Given the description of an element on the screen output the (x, y) to click on. 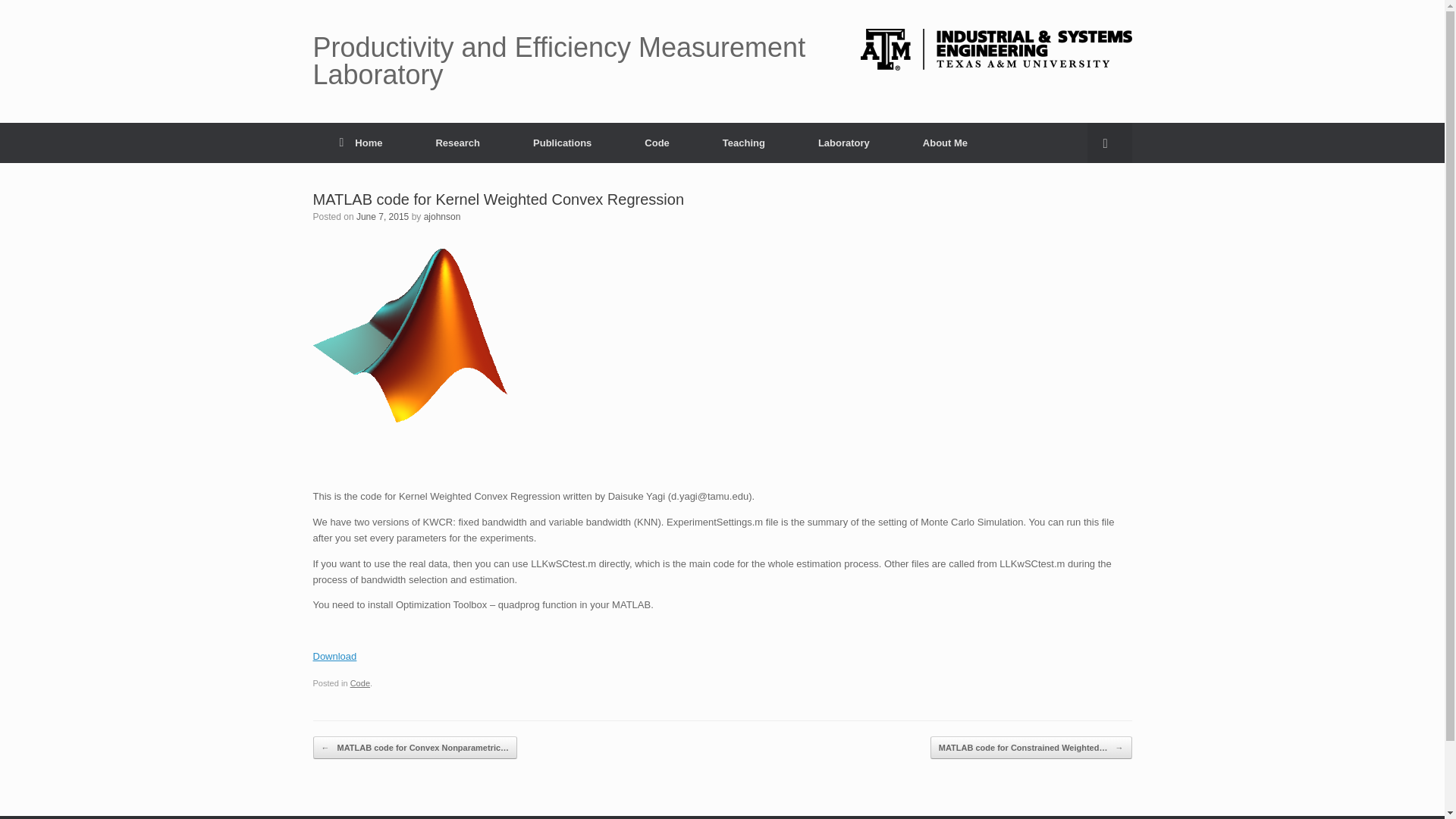
Publications (561, 142)
Research (457, 142)
Teaching (743, 142)
Code (656, 142)
10:47 pm (382, 216)
June 7, 2015 (382, 216)
Productivity and Efficiency Measurement Laboratory (577, 61)
Productivity and Efficiency Measurement Laboratory (577, 61)
Home (361, 142)
ajohnson (442, 216)
View all posts by ajohnson (442, 216)
Laboratory (844, 142)
About Me (945, 142)
